Given the description of an element on the screen output the (x, y) to click on. 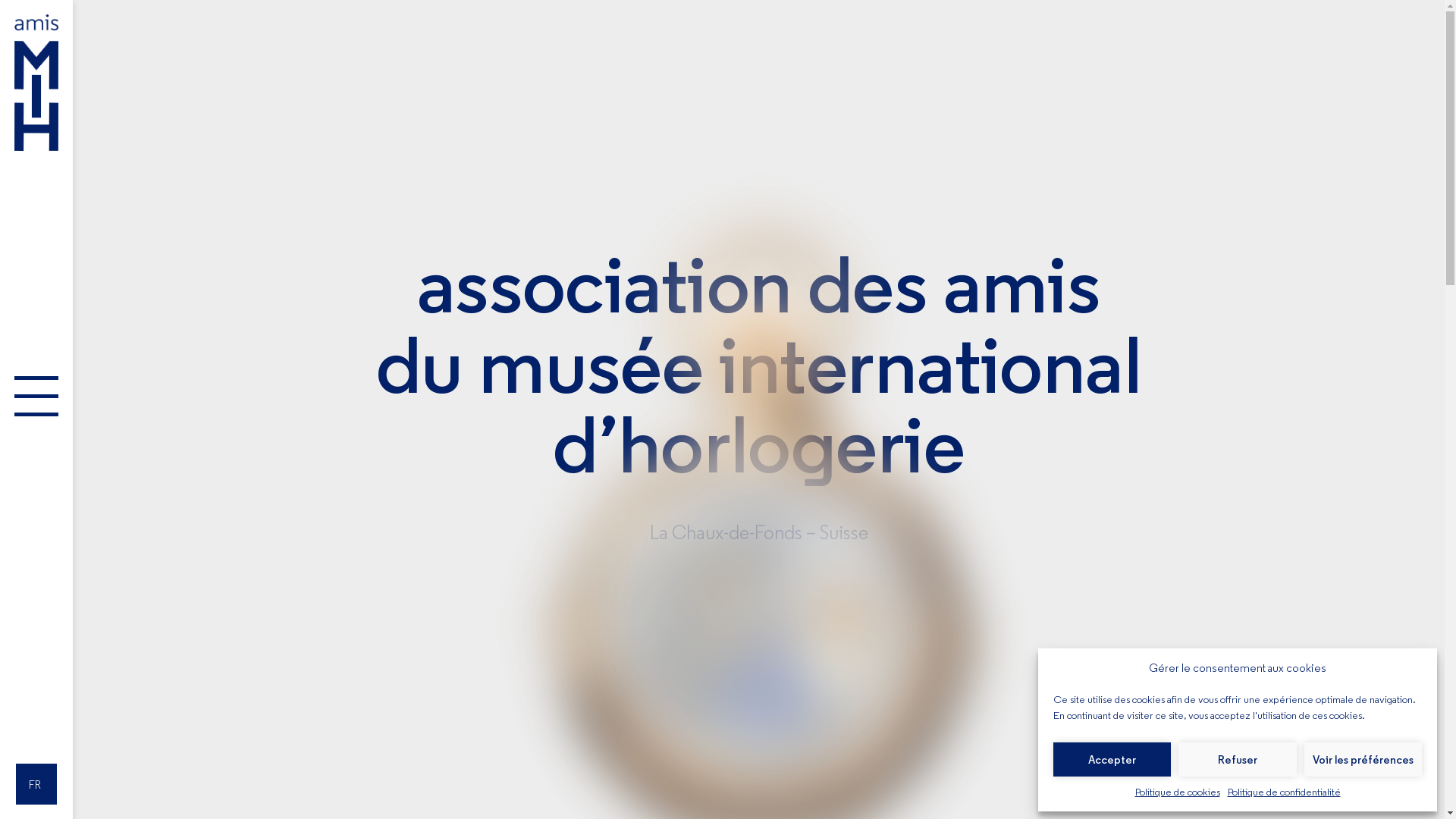
Refuser Element type: text (1236, 759)
Accepter Element type: text (1111, 759)
FR Element type: text (35, 784)
Politique de cookies Element type: text (1176, 792)
